Given the description of an element on the screen output the (x, y) to click on. 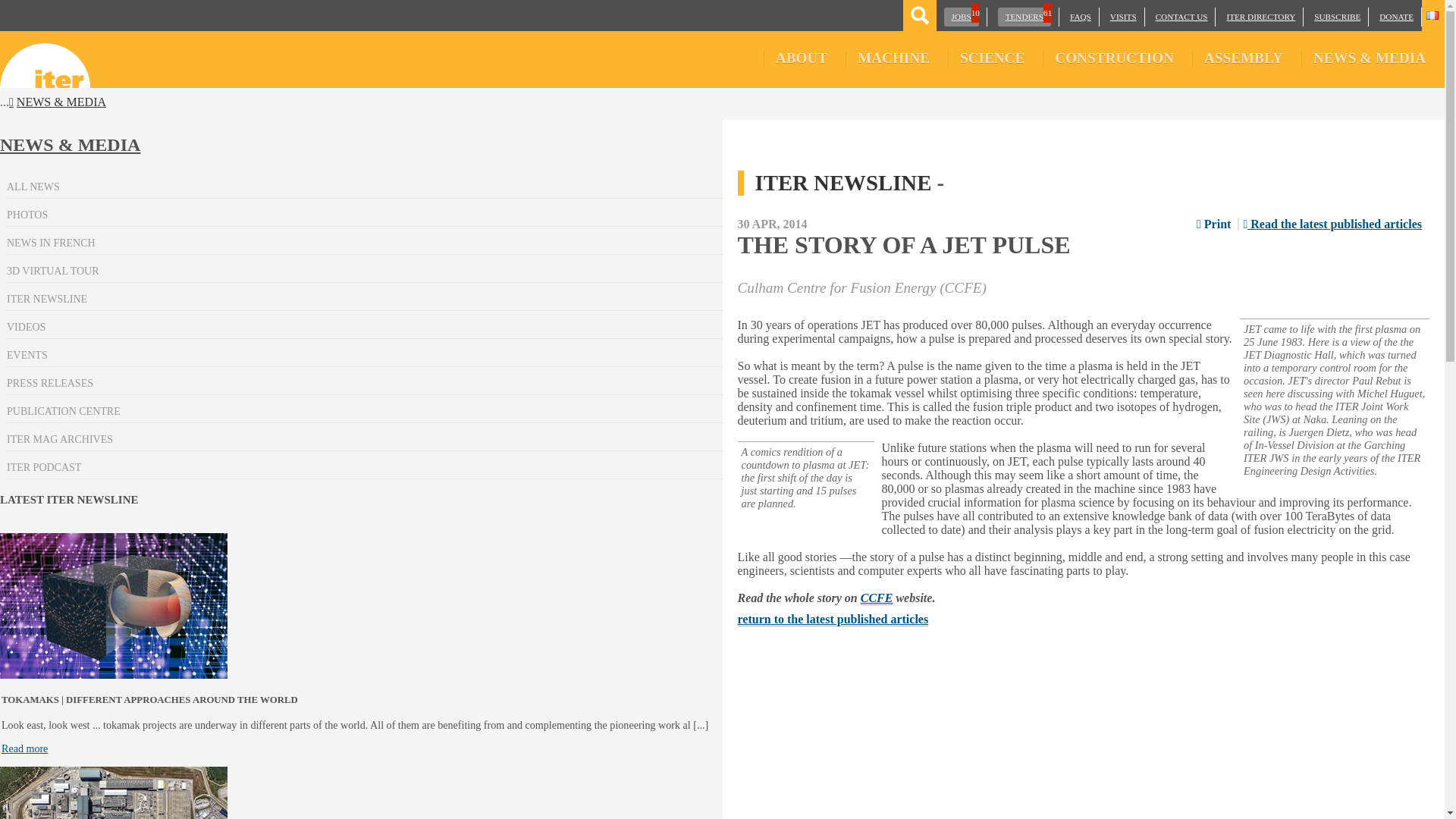
SUBSCRIBE (1336, 16)
DONATE (1395, 16)
FAQS (1080, 16)
ITER DIRECTORY (1260, 16)
ITER Organization - Homepage (45, 59)
VISITS (1123, 16)
CONTACT US (960, 16)
